Given the description of an element on the screen output the (x, y) to click on. 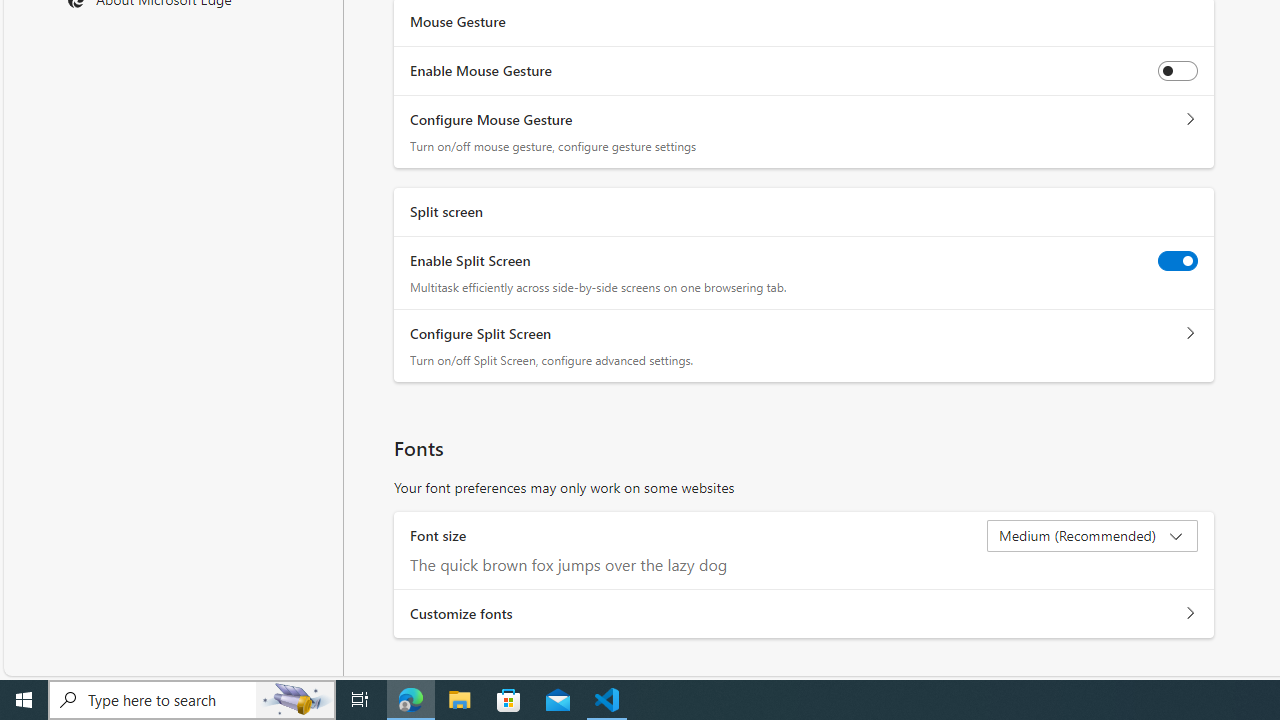
Enable Mouse Gesture (1178, 70)
Configure Split Screen (1190, 334)
Font size Medium (Recommended) (1092, 535)
Configure Mouse Gesture (1190, 120)
Customize fonts (1190, 614)
Enable Split Screen (1178, 260)
